Given the description of an element on the screen output the (x, y) to click on. 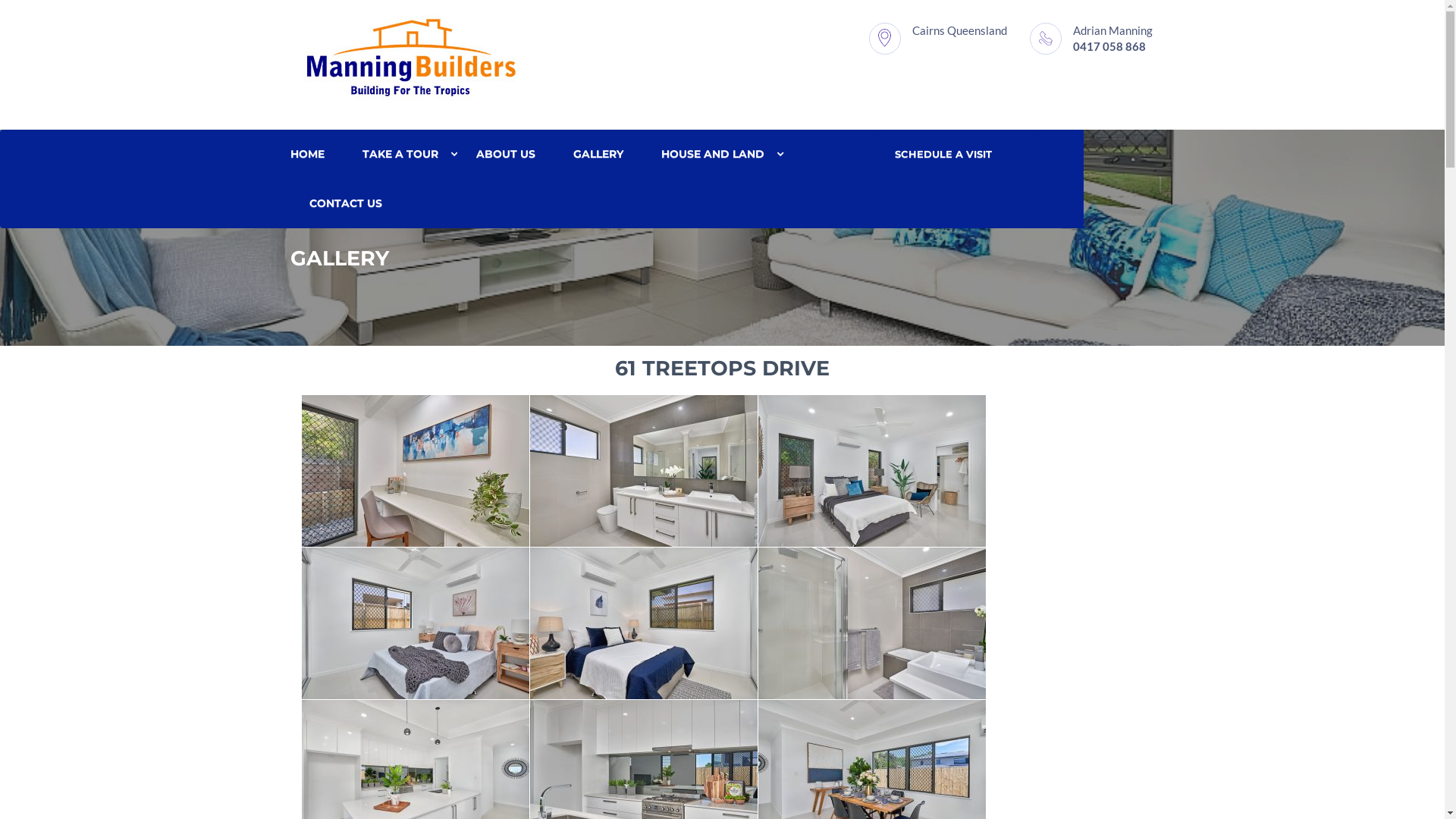
CONTACT US Element type: text (344, 203)
4 BUTTERNUT CLOSE Element type: text (742, 194)
GALLERY Element type: text (597, 153)
HOUSE AND LAND Element type: text (711, 153)
HOME Element type: text (315, 153)
SCHEDULE A VISIT Element type: text (943, 153)
ABOUT US Element type: text (504, 153)
NEW! 36 TREETOPS DRIVE Element type: text (443, 194)
TAKE A TOUR Element type: text (399, 153)
